Given the description of an element on the screen output the (x, y) to click on. 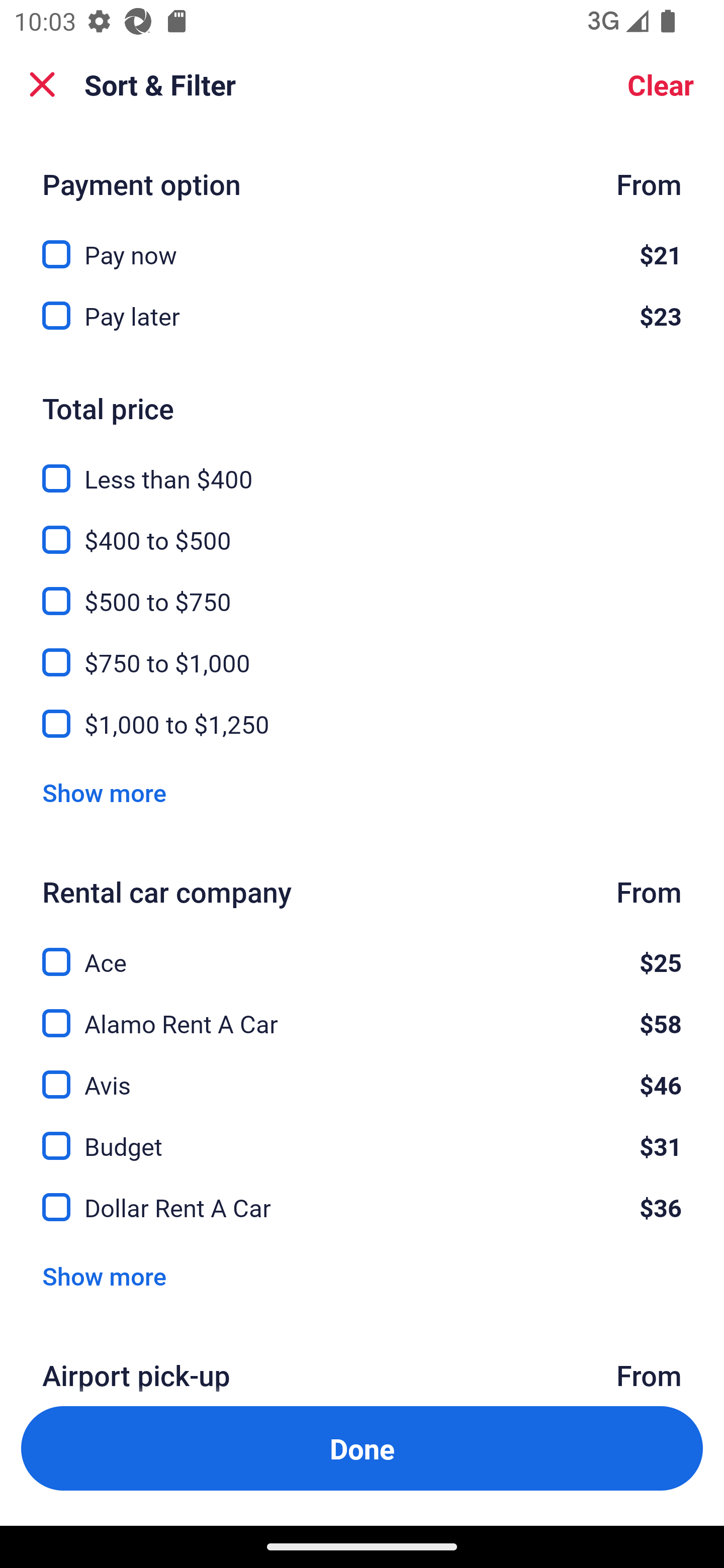
Close Sort and Filter (42, 84)
Clear (660, 84)
Pay now, $21 Pay now $21 (361, 243)
Pay later, $23 Pay later $23 (361, 316)
Less than $400, Less than $400 (361, 467)
$400 to $500, $400 to $500 (361, 528)
$500 to $750, $500 to $750 (361, 589)
$750 to $1,000, $750 to $1,000 (361, 651)
$1,000 to $1,250, $1,000 to $1,250 (361, 724)
Show more Show more Link (103, 792)
Ace, $25 Ace $25 (361, 950)
Alamo Rent A Car, $58 Alamo Rent A Car $58 (361, 1011)
Avis, $46 Avis $46 (361, 1072)
Budget, $31 Budget $31 (361, 1134)
Dollar Rent A Car, $36 Dollar Rent A Car $36 (361, 1207)
Show more Show more Link (103, 1276)
Apply and close Sort and Filter Done (361, 1448)
